Given the description of an element on the screen output the (x, y) to click on. 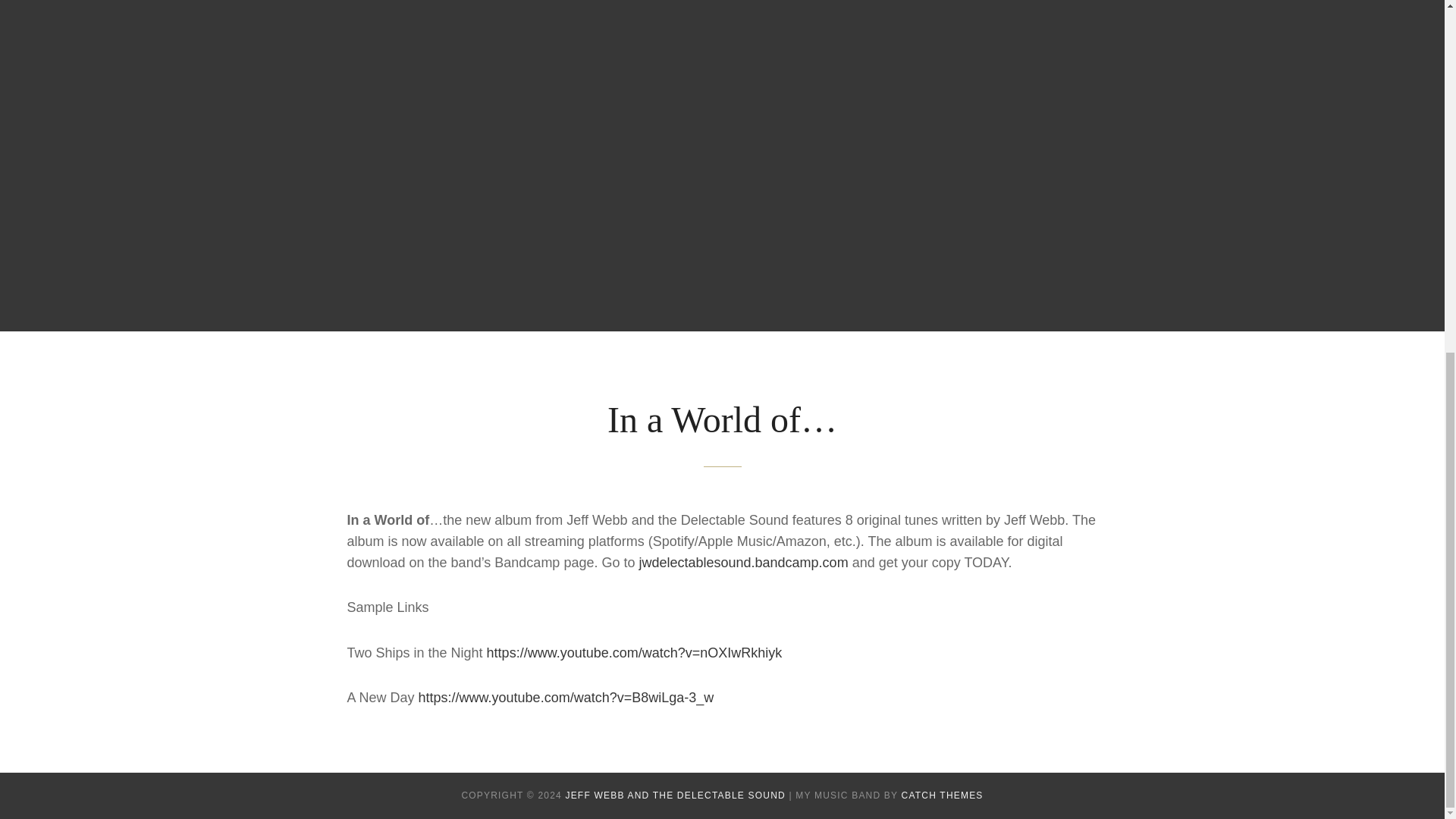
jwdelectablesound.bandcamp.com (743, 562)
CATCH THEMES (942, 795)
JEFF WEBB AND THE DELECTABLE SOUND (674, 795)
